Given the description of an element on the screen output the (x, y) to click on. 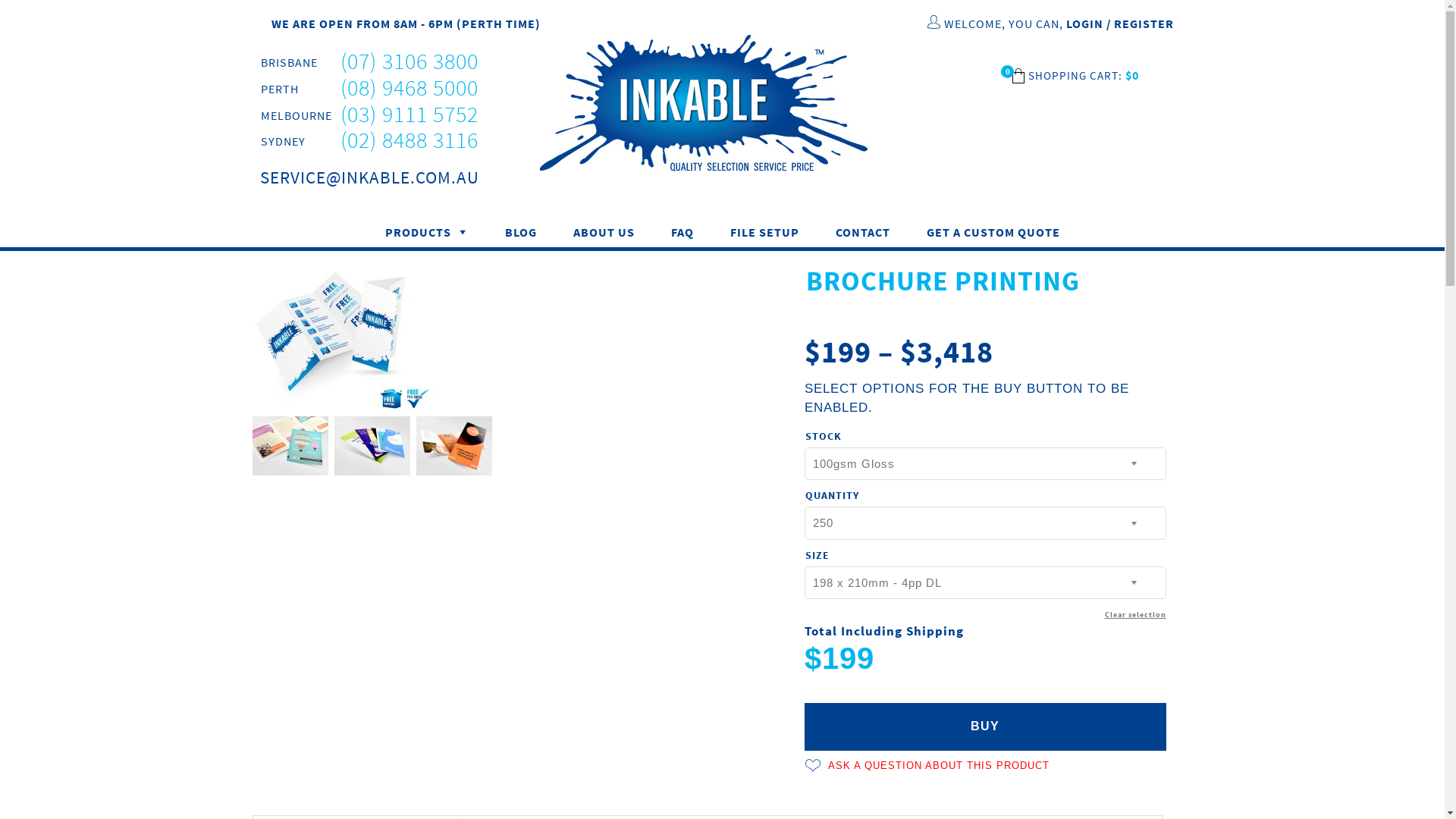
PRODUCTS Element type: text (426, 231)
FAQ Element type: text (681, 231)
Clear selection Element type: text (1134, 614)
LOGIN / REGISTER Element type: text (1119, 23)
ABOUT US Element type: text (603, 231)
GET A CUSTOM QUOTE Element type: text (993, 231)
BUY Element type: text (984, 726)
CONTACT Element type: text (862, 231)
FILE SETUP Element type: text (763, 231)
Brochures Element type: hover (342, 336)
SERVICE@INKABLE.COM.AU Element type: text (368, 177)
Caroline Marshall Tri-Fold Brochure - A4 150gsm Gloss Element type: hover (453, 445)
BLOG Element type: text (520, 231)
SHOPPING CART: Element type: text (1076, 75)
